Given the description of an element on the screen output the (x, y) to click on. 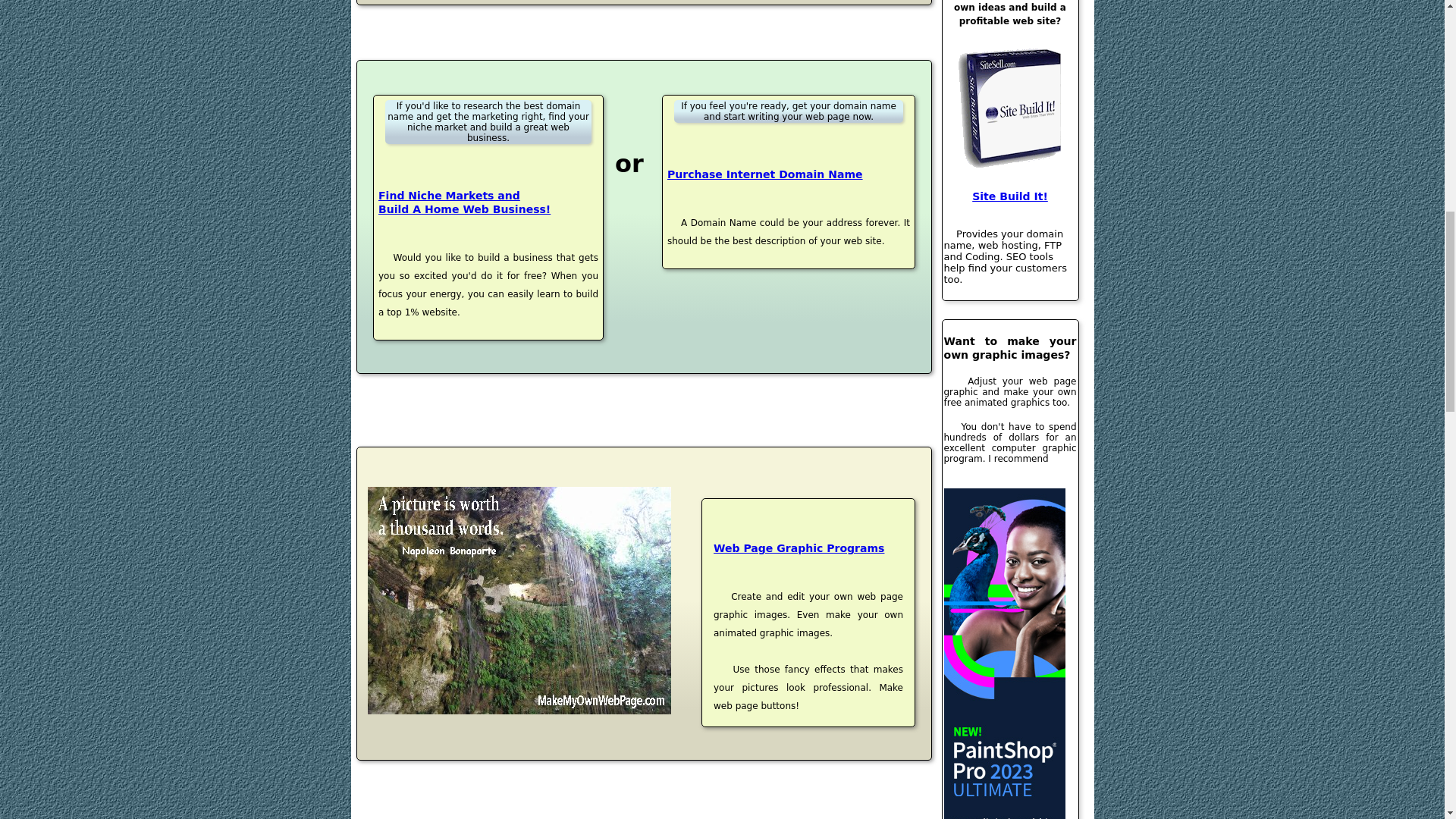
Purchase Internet Domain Name (764, 174)
Web Page Graphic Programs (807, 576)
Picture Worth Thousand Words (464, 202)
